Given the description of an element on the screen output the (x, y) to click on. 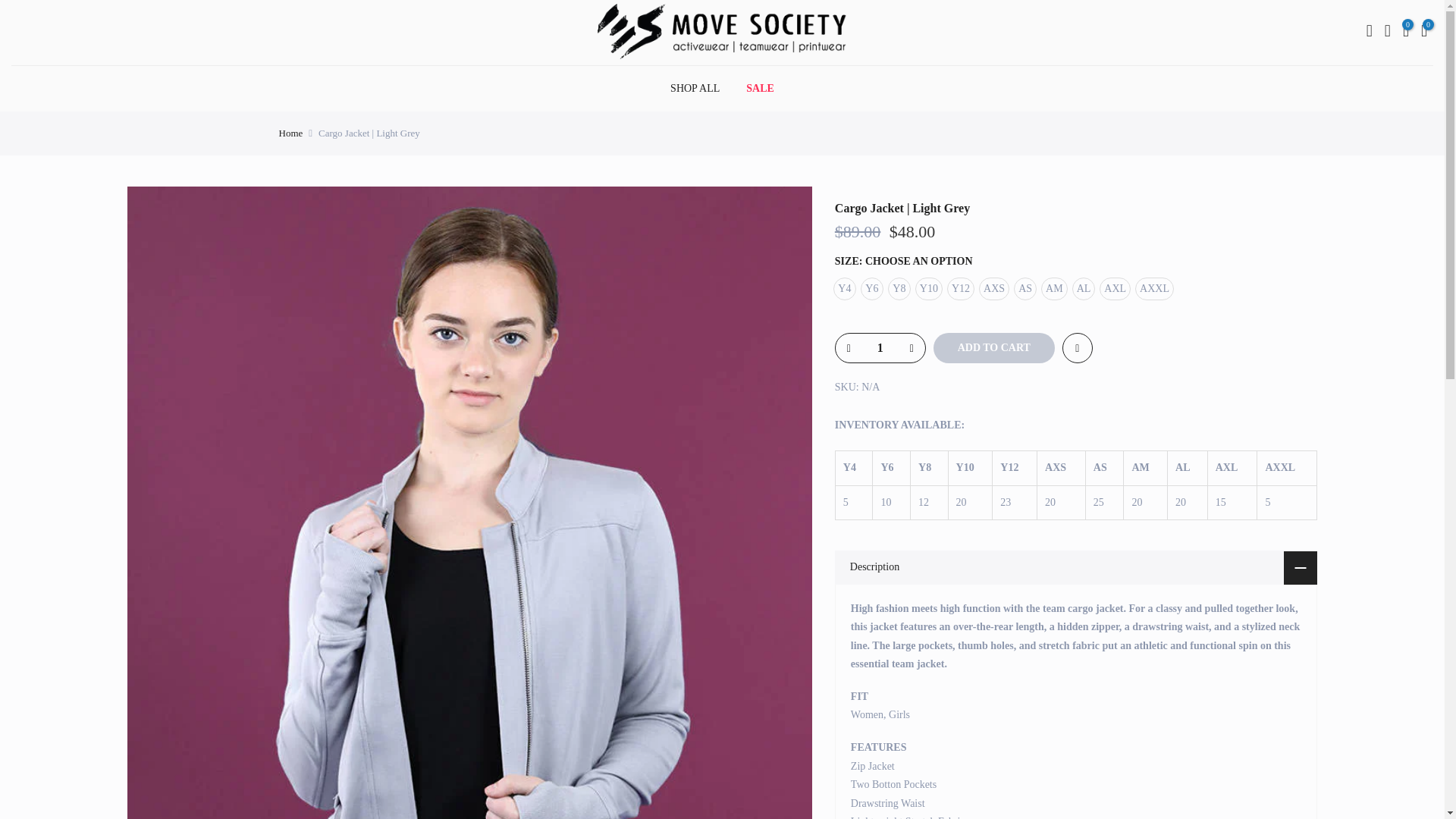
SALE (760, 88)
0 (1405, 32)
ADD TO CART (993, 347)
Home (290, 132)
1 (879, 347)
SHOP ALL (695, 88)
Description (1075, 567)
